Given the description of an element on the screen output the (x, y) to click on. 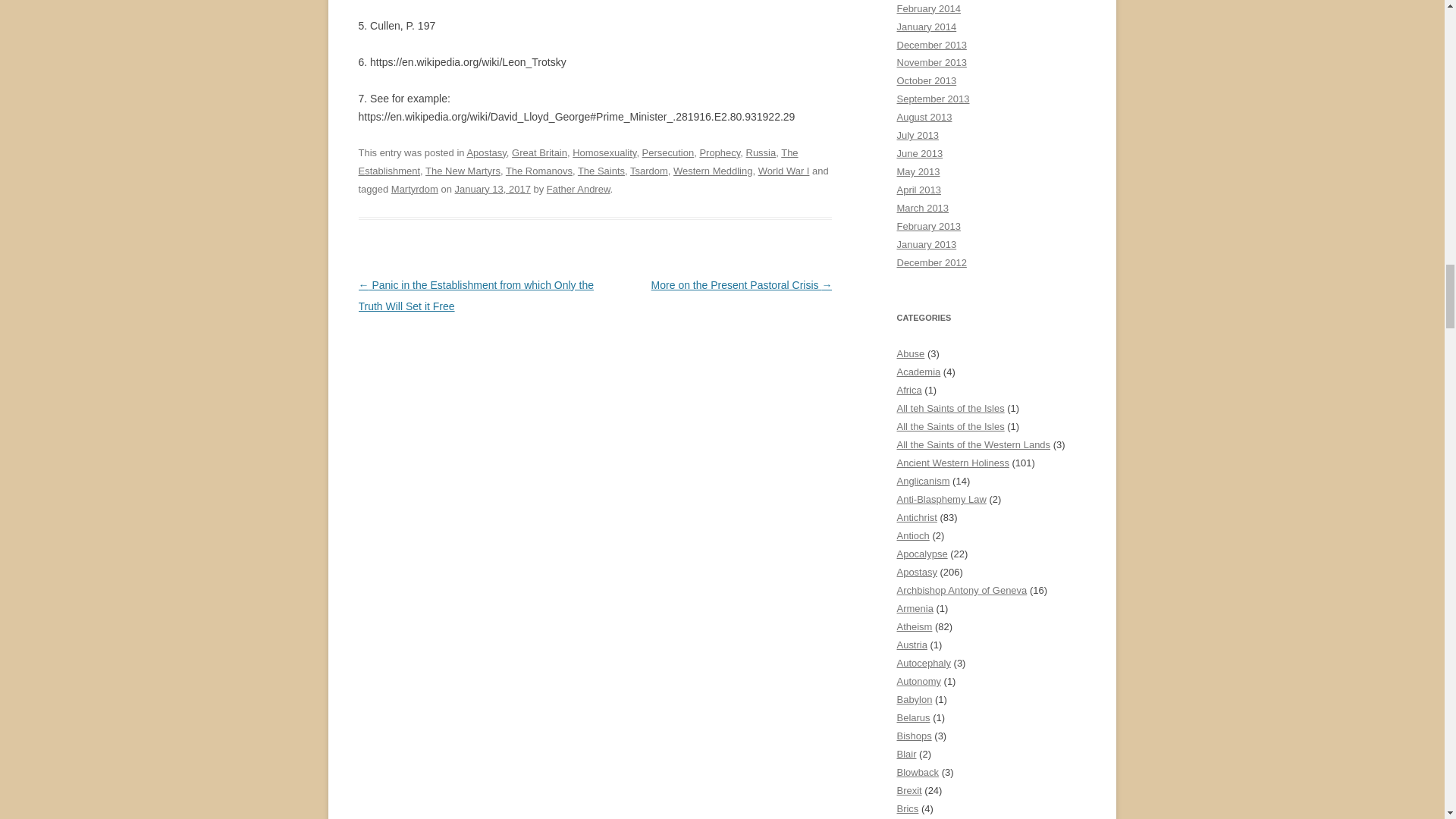
The Romanovs (538, 170)
Russia (760, 152)
Persecution (668, 152)
Tsardom (649, 170)
Father Andrew (578, 188)
2:26 pm (492, 188)
World War I (783, 170)
Martyrdom (414, 188)
Homosexuality (604, 152)
Prophecy (718, 152)
Western Meddling (712, 170)
The New Martyrs (462, 170)
The Saints (601, 170)
January 13, 2017 (492, 188)
Great Britain (539, 152)
